Given the description of an element on the screen output the (x, y) to click on. 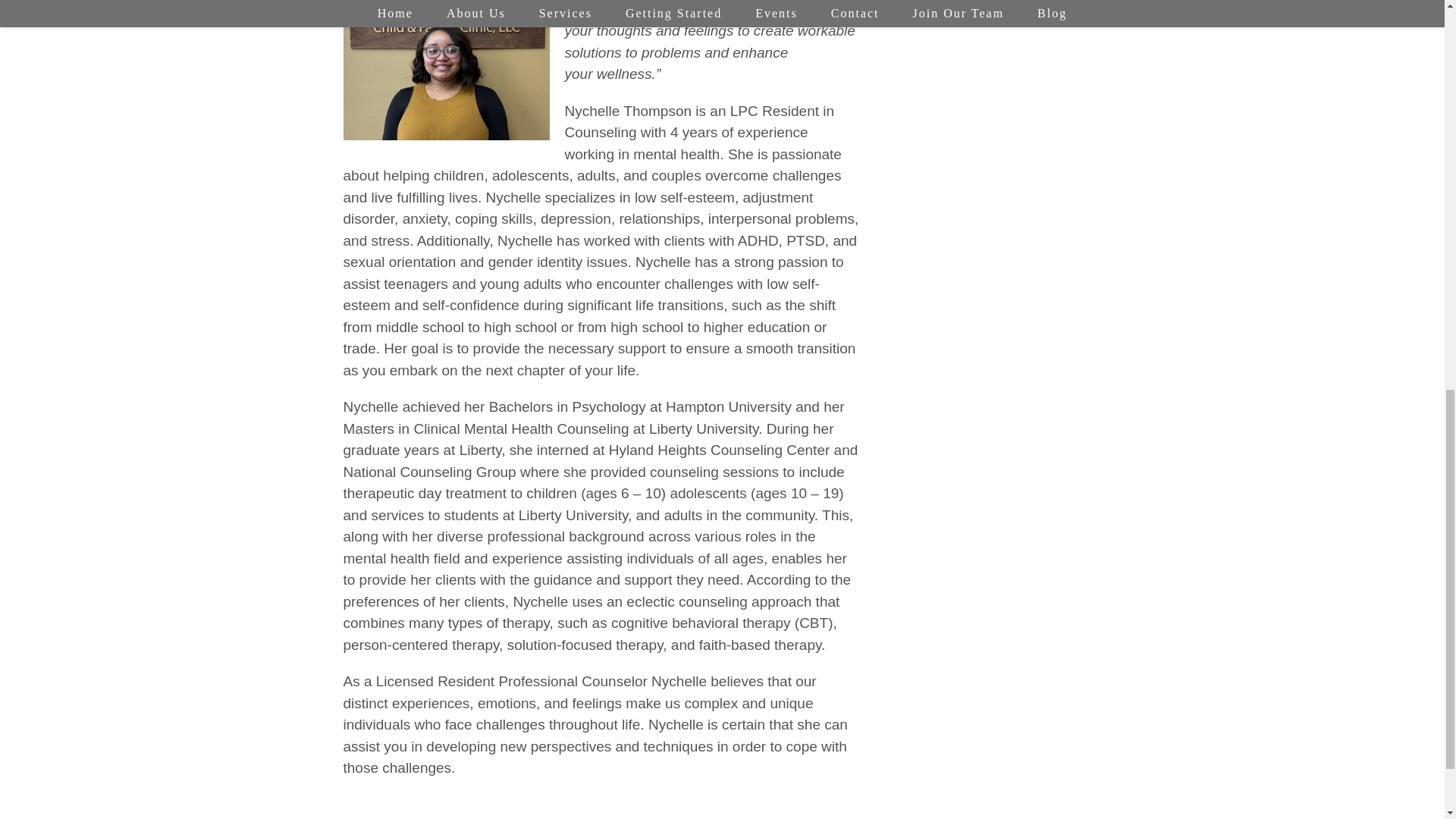
Request Appointment (997, 12)
